Given the description of an element on the screen output the (x, y) to click on. 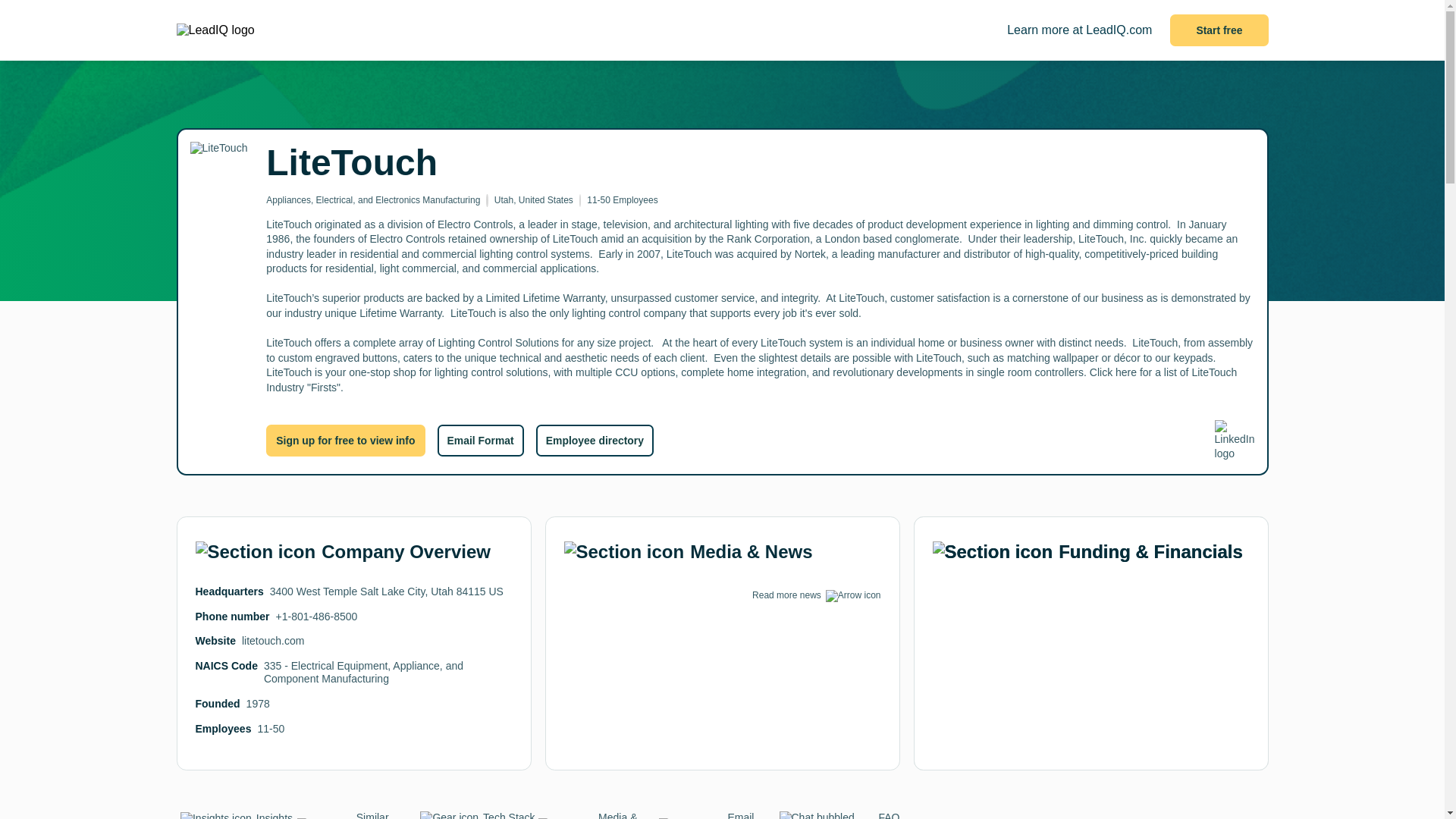
Tech Stack (476, 815)
Similar companies (357, 815)
Email Format (479, 440)
FAQ (838, 815)
litetouch.com (272, 640)
Email Format (718, 815)
Start free (1219, 29)
Employee directory (594, 440)
Insights (236, 815)
Read more news (786, 594)
